Given the description of an element on the screen output the (x, y) to click on. 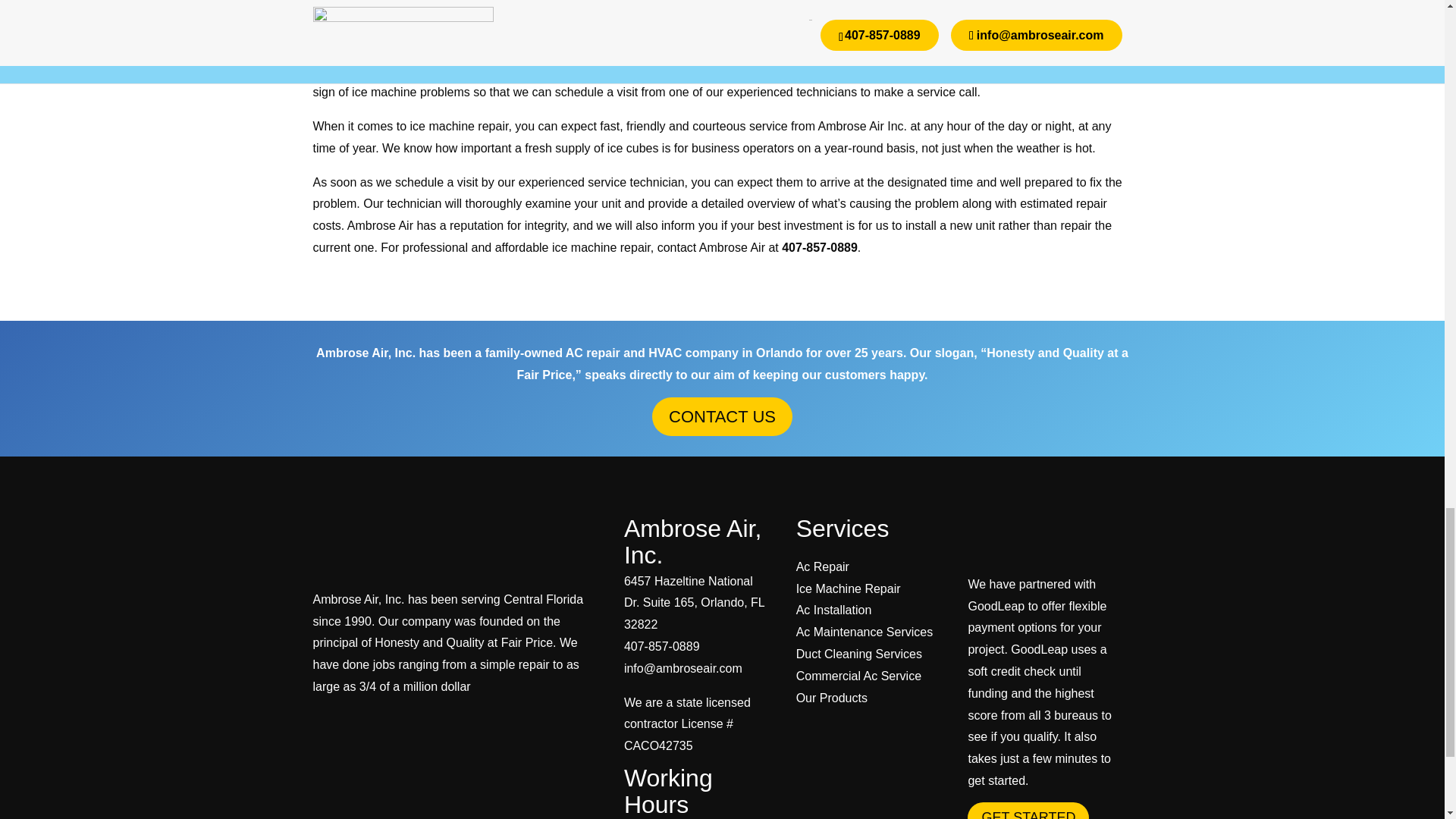
CONTACT US (722, 416)
Our Products (831, 697)
Commercial Ac Service (858, 675)
Duct Cleaning Services (858, 653)
407-857-0889 (662, 645)
Ac Maintenance Services (864, 631)
Ac Repair (822, 566)
Ice Machine Repair (848, 588)
ambrose-logo-1 (403, 543)
GET STARTED (1028, 810)
Ac Installation (834, 609)
